Given the description of an element on the screen output the (x, y) to click on. 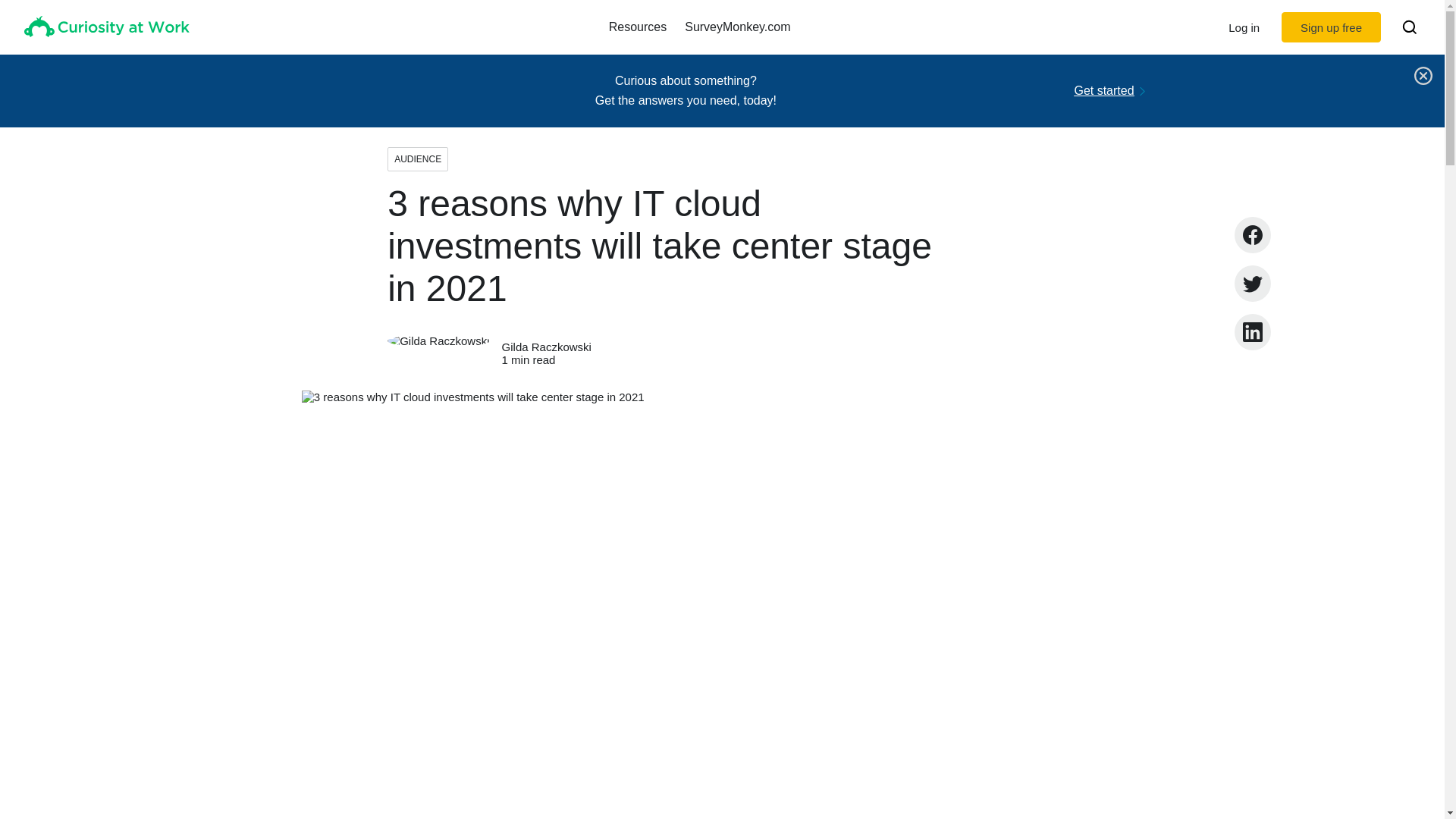
Sign up free (1330, 27)
Log in (1243, 27)
Get started (1104, 90)
SurveyMonkey.com (737, 26)
Resources (637, 26)
AUDIENCE (417, 159)
